Given the description of an element on the screen output the (x, y) to click on. 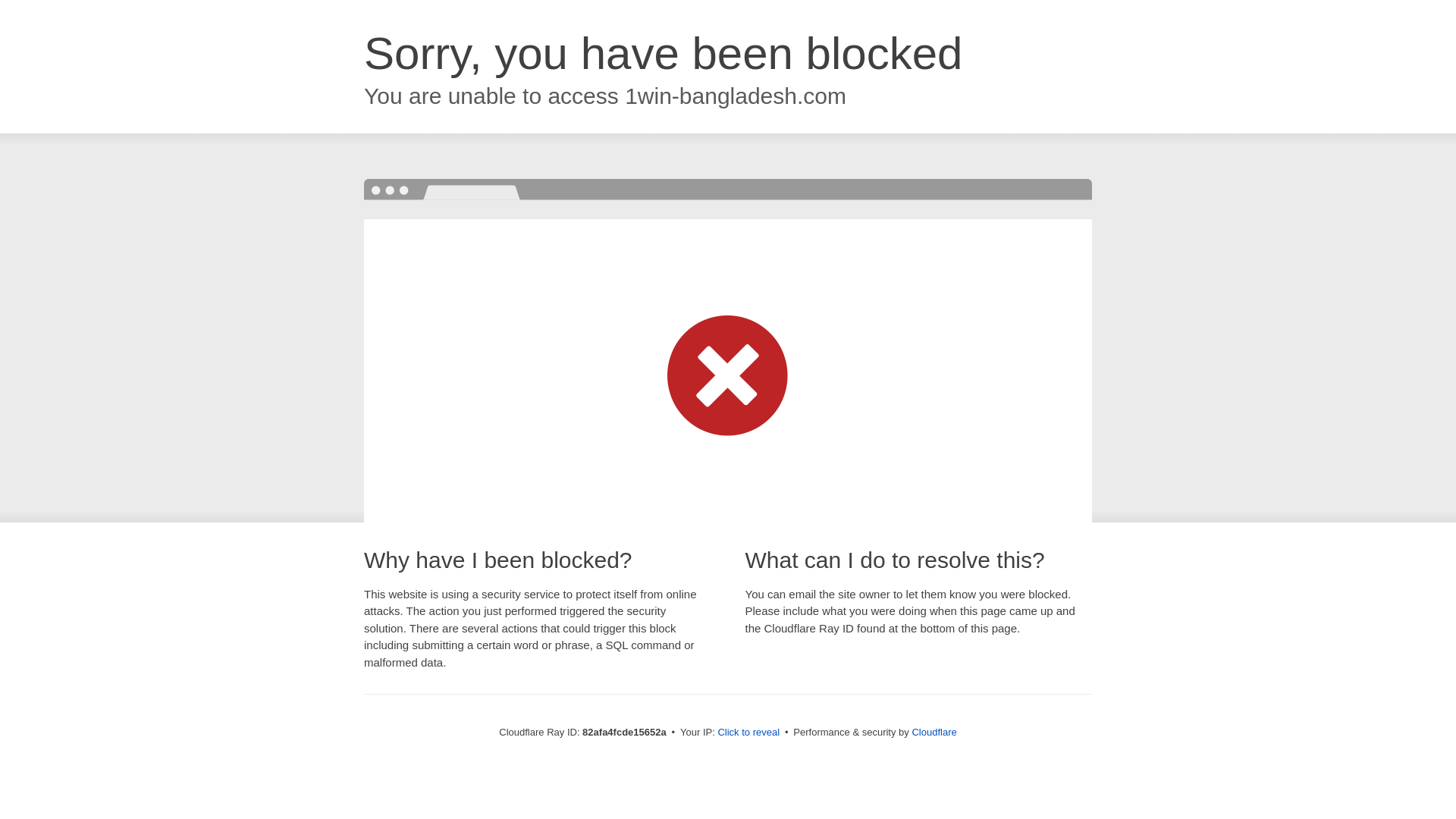
Cloudflare Element type: text (933, 731)
Click to reveal Element type: text (748, 732)
